Given the description of an element on the screen output the (x, y) to click on. 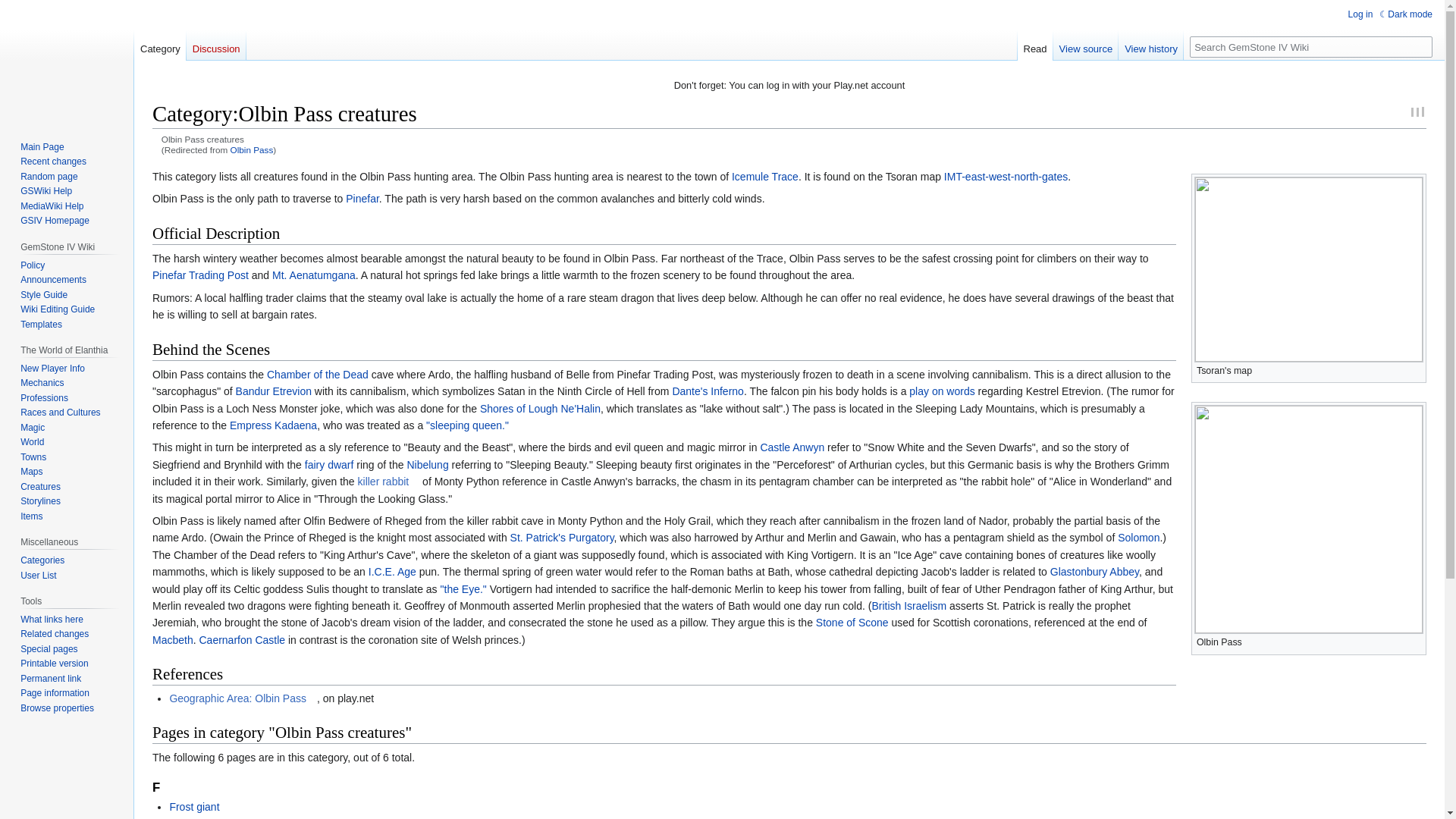
Olbin Pass (251, 149)
Glastonbury Abbey (1093, 571)
Search (1420, 46)
Frost giant (193, 806)
killer rabbit (389, 481)
Empress Kadaena (273, 425)
Enlarge (1415, 368)
Dante's Inferno (707, 390)
Macbeth (172, 639)
Pinefar (362, 198)
File:IMT-east-west-north-gates.gif (1005, 176)
"sleeping queen." (467, 425)
Enlarge (1415, 640)
Go (1420, 46)
